Given the description of an element on the screen output the (x, y) to click on. 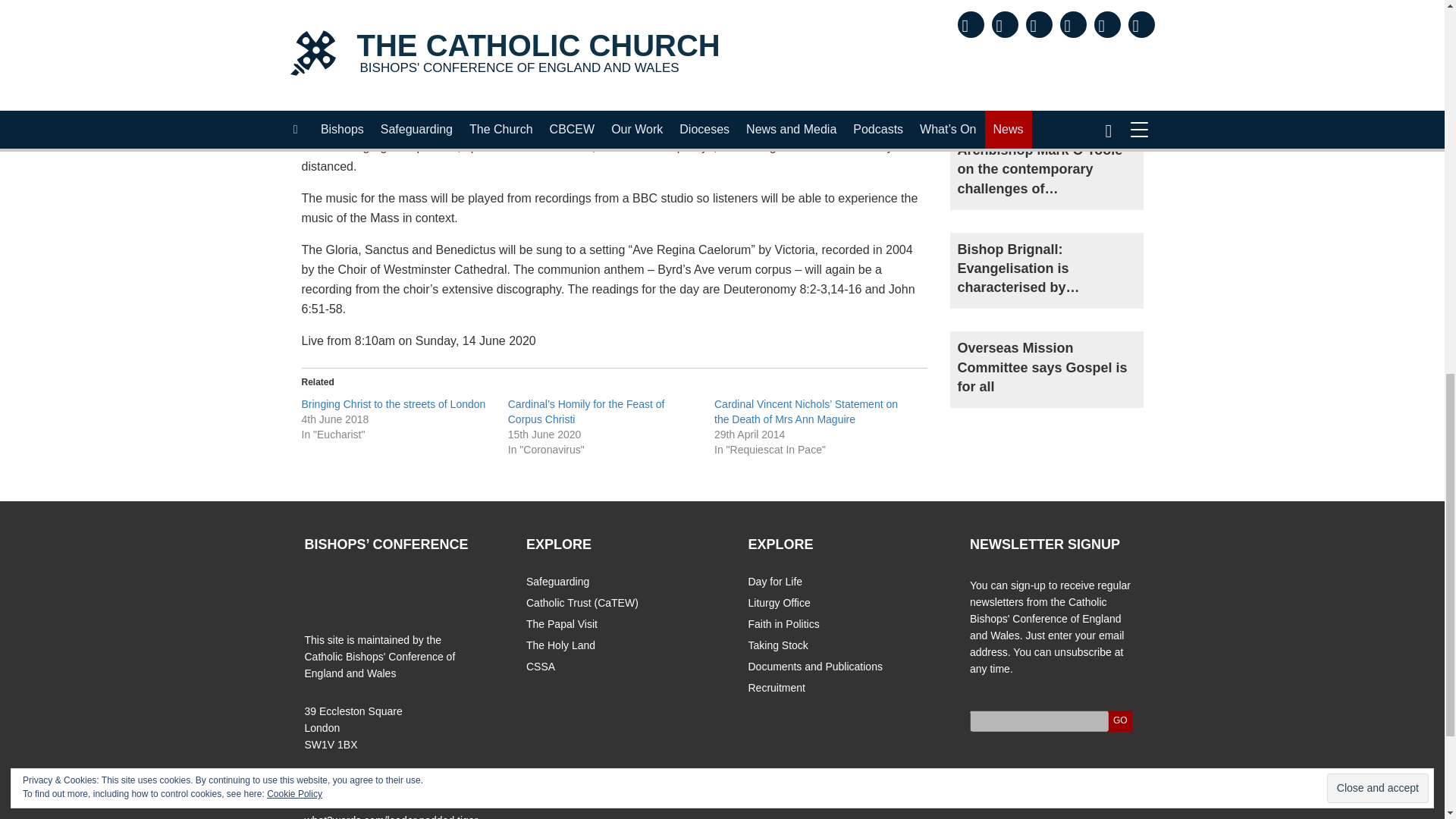
Go (1120, 721)
Bringing Christ to the streets of London (393, 404)
